Given the description of an element on the screen output the (x, y) to click on. 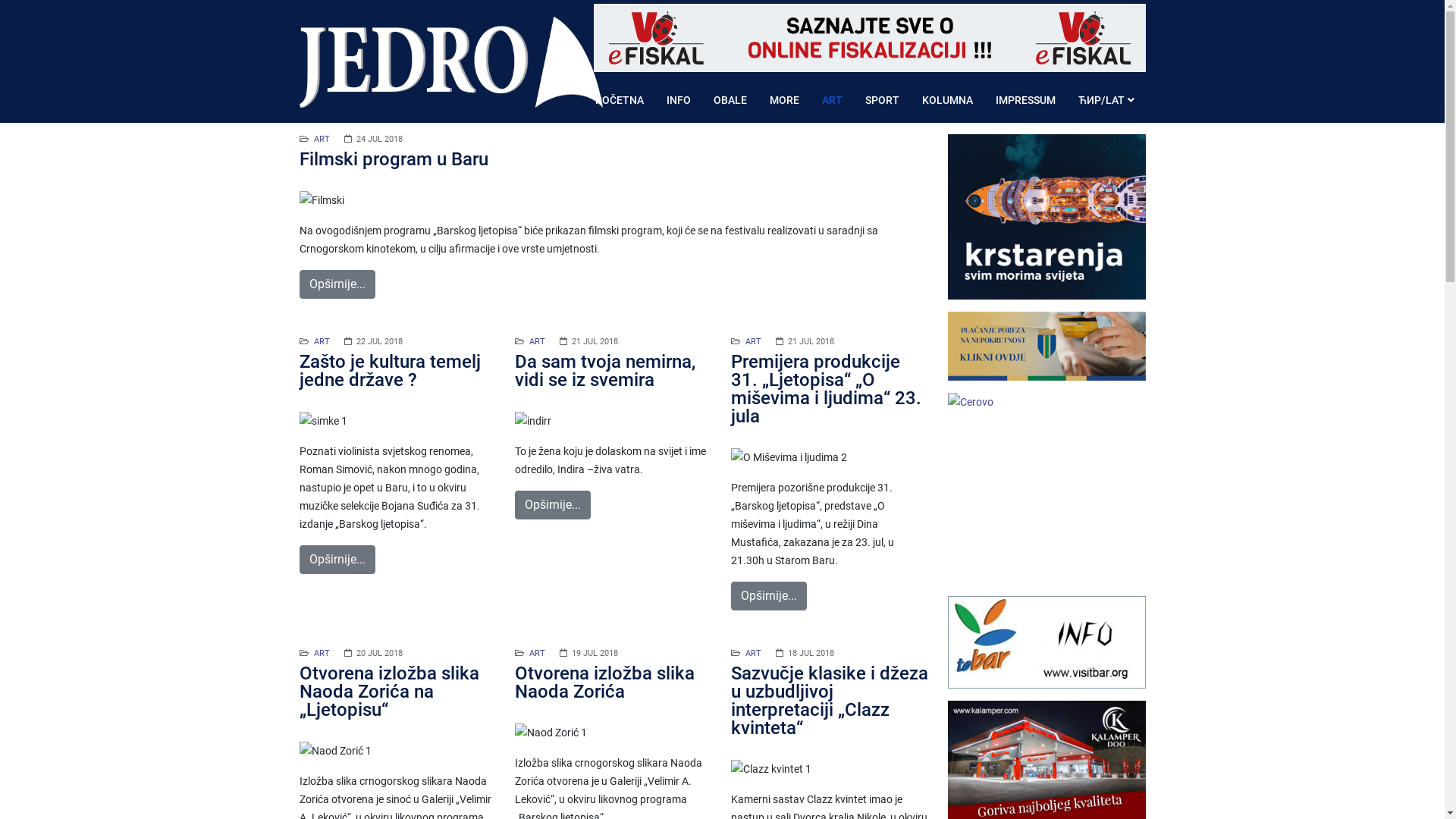
VG Fiskalizacija Element type: hover (869, 37)
ART Element type: text (321, 139)
KOLUMNA Element type: text (947, 99)
ART Element type: text (321, 653)
ART Element type: text (321, 341)
ART Element type: text (537, 653)
MORE Element type: text (784, 99)
INFO Element type: text (678, 99)
IMPRESSUM Element type: text (1025, 99)
Filmski program u Baru Element type: text (392, 158)
ART Element type: text (537, 341)
SPORT Element type: text (881, 99)
ART Element type: text (831, 99)
ART Element type: text (753, 653)
Da sam tvoja nemirna, vidi se iz svemira Element type: text (604, 370)
OBALE Element type: text (730, 99)
ART Element type: text (753, 341)
